Given the description of an element on the screen output the (x, y) to click on. 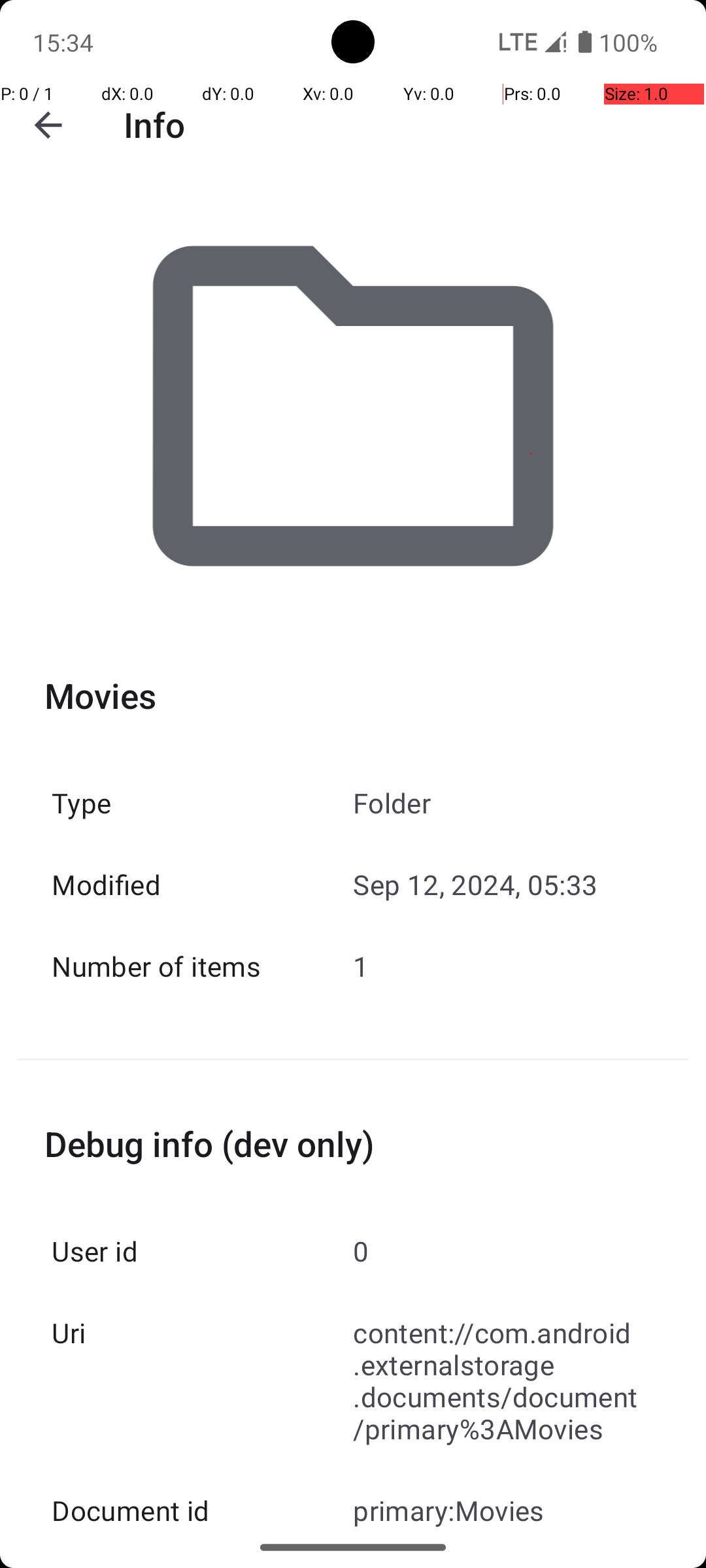
Info Element type: android.widget.TextView (153, 124)
Folder Element type: android.widget.TextView (503, 802)
Modified Element type: android.widget.TextView (202, 884)
Sep 12, 2024, 05:33 Element type: android.widget.TextView (503, 884)
Number of items Element type: android.widget.TextView (202, 965)
Debug info (dev only) Element type: android.widget.TextView (352, 1143)
User id Element type: android.widget.TextView (202, 1250)
Uri Element type: android.widget.TextView (202, 1332)
content://com.android.externalstorage.documents/document/primary%3AMovies Element type: android.widget.TextView (503, 1380)
Document id Element type: android.widget.TextView (202, 1510)
primary:Movies Element type: android.widget.TextView (503, 1510)
Raw mimetype Element type: android.widget.TextView (202, 1559)
vnd.android.document/directory Element type: android.widget.TextView (503, 1559)
